Given the description of an element on the screen output the (x, y) to click on. 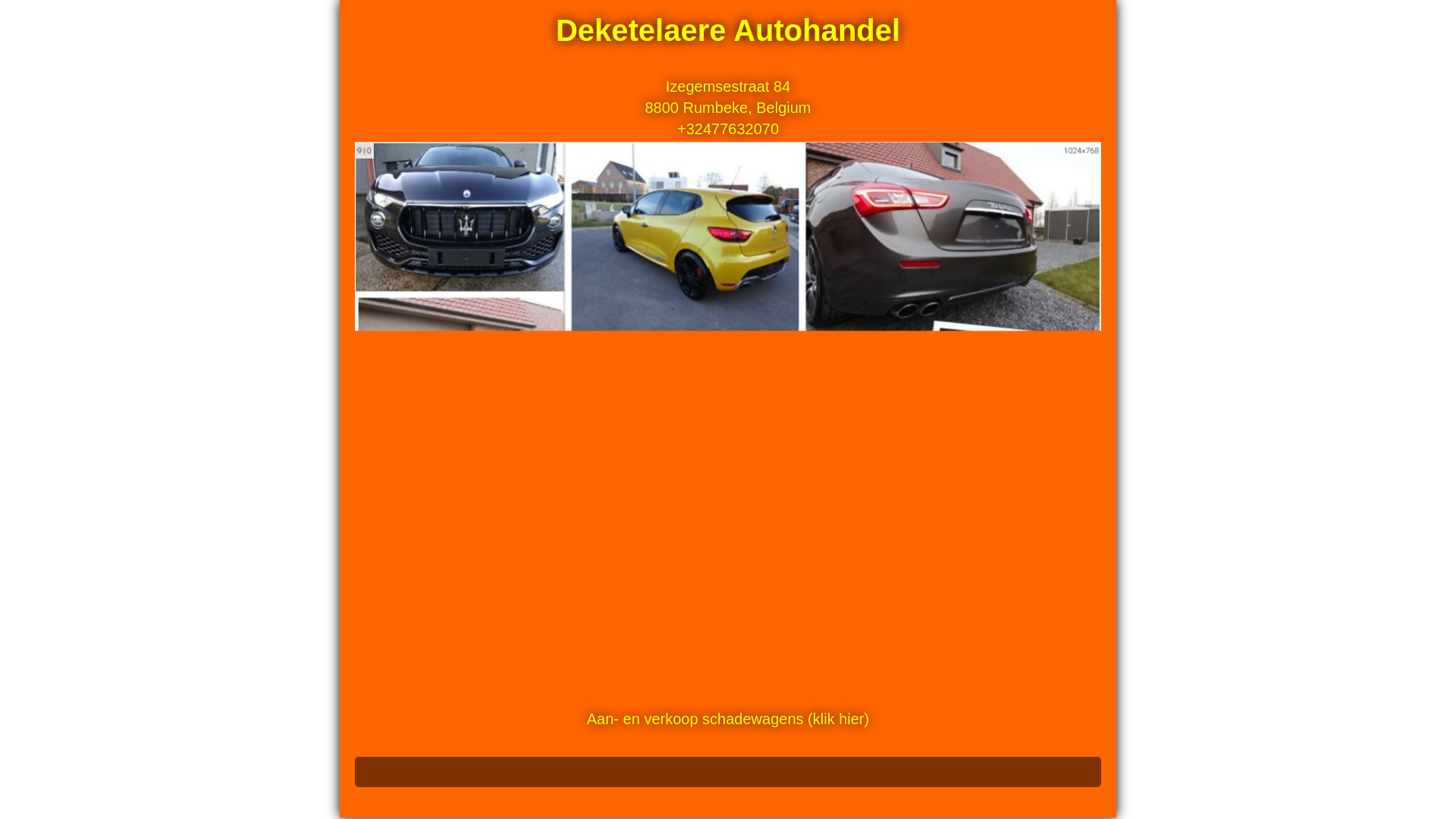
Aan- en verkoop schadewagens (klik hier) Element type: text (727, 719)
